Given the description of an element on the screen output the (x, y) to click on. 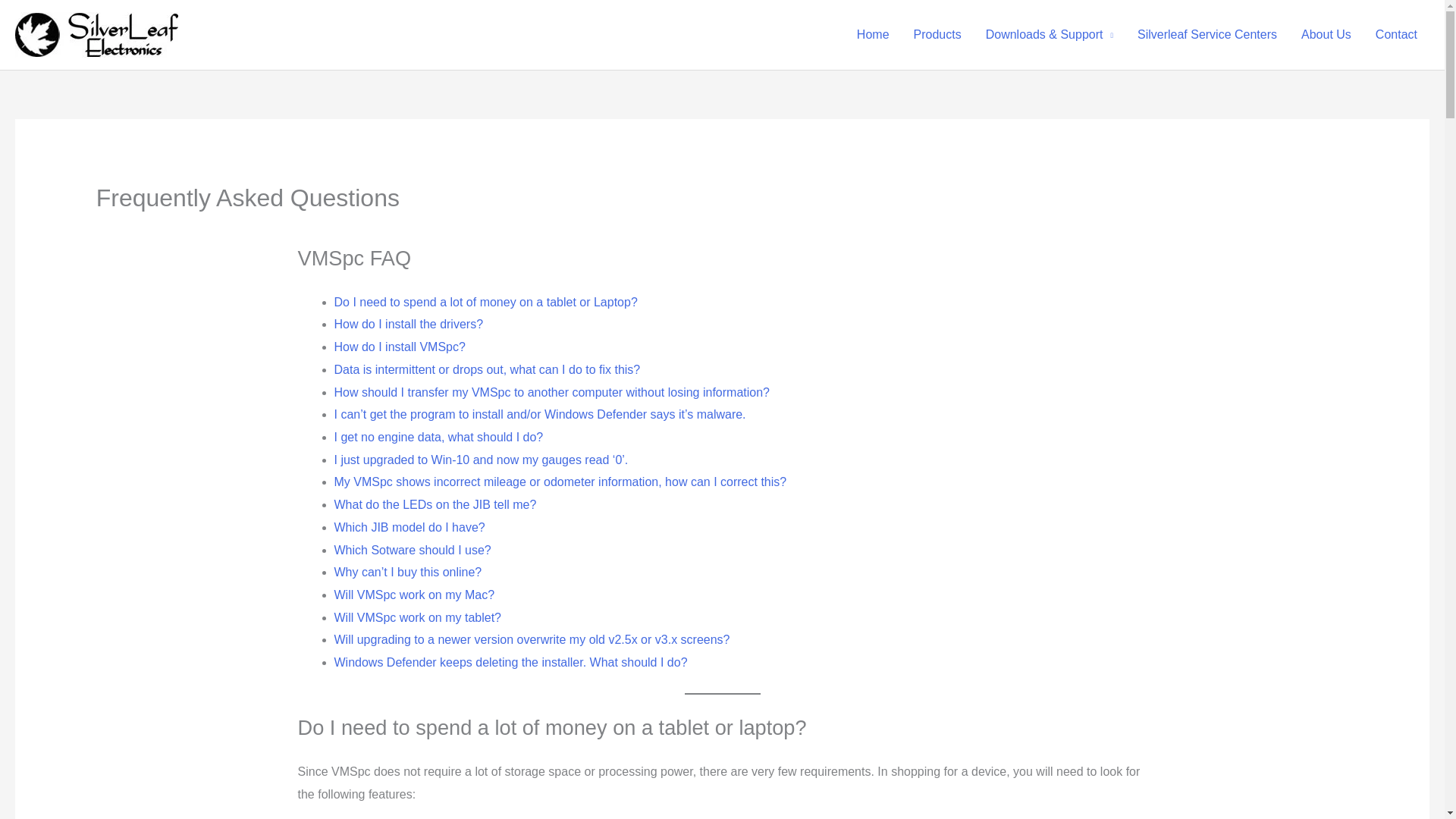
Products (937, 34)
How do I install the drivers? (408, 323)
contact (1395, 34)
Home (872, 34)
Home (872, 34)
How do I install VMSpc? (398, 346)
Do I need to spend a lot of money on a tablet or Laptop? (485, 301)
I get no engine data, what should I do? (438, 436)
